Given the description of an element on the screen output the (x, y) to click on. 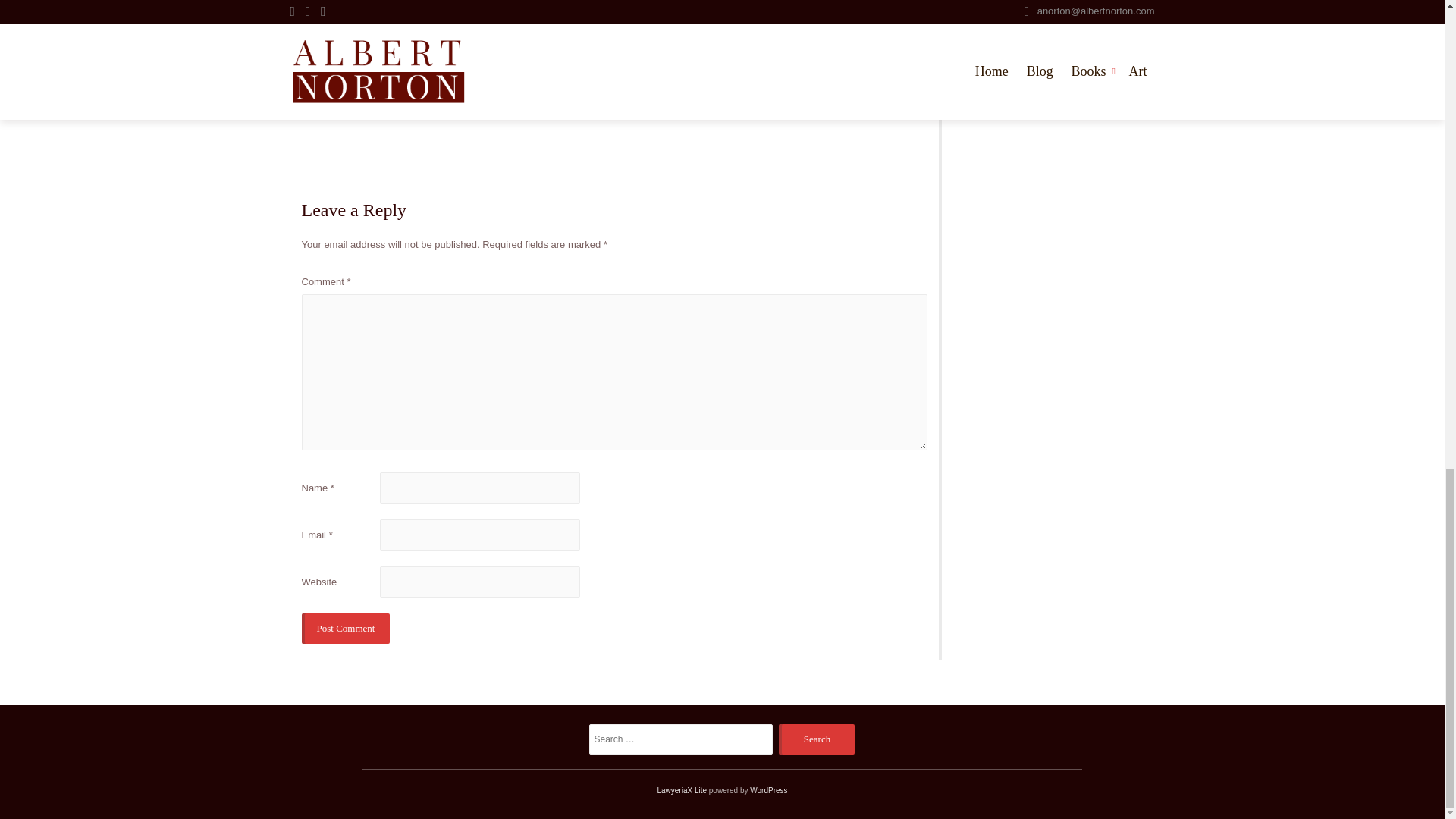
Search (816, 738)
Tomas (686, 6)
Algot (504, 6)
Ingmar Bergman (558, 6)
Silence of God (633, 6)
WordPress (768, 790)
Is Life Worth Living? (882, 87)
Post Comment (345, 628)
Search (816, 738)
Search (816, 738)
Christianity and Culture (419, 6)
Post Comment (345, 628)
Agnosticism (335, 6)
LawyeriaX Lite (681, 790)
